Given the description of an element on the screen output the (x, y) to click on. 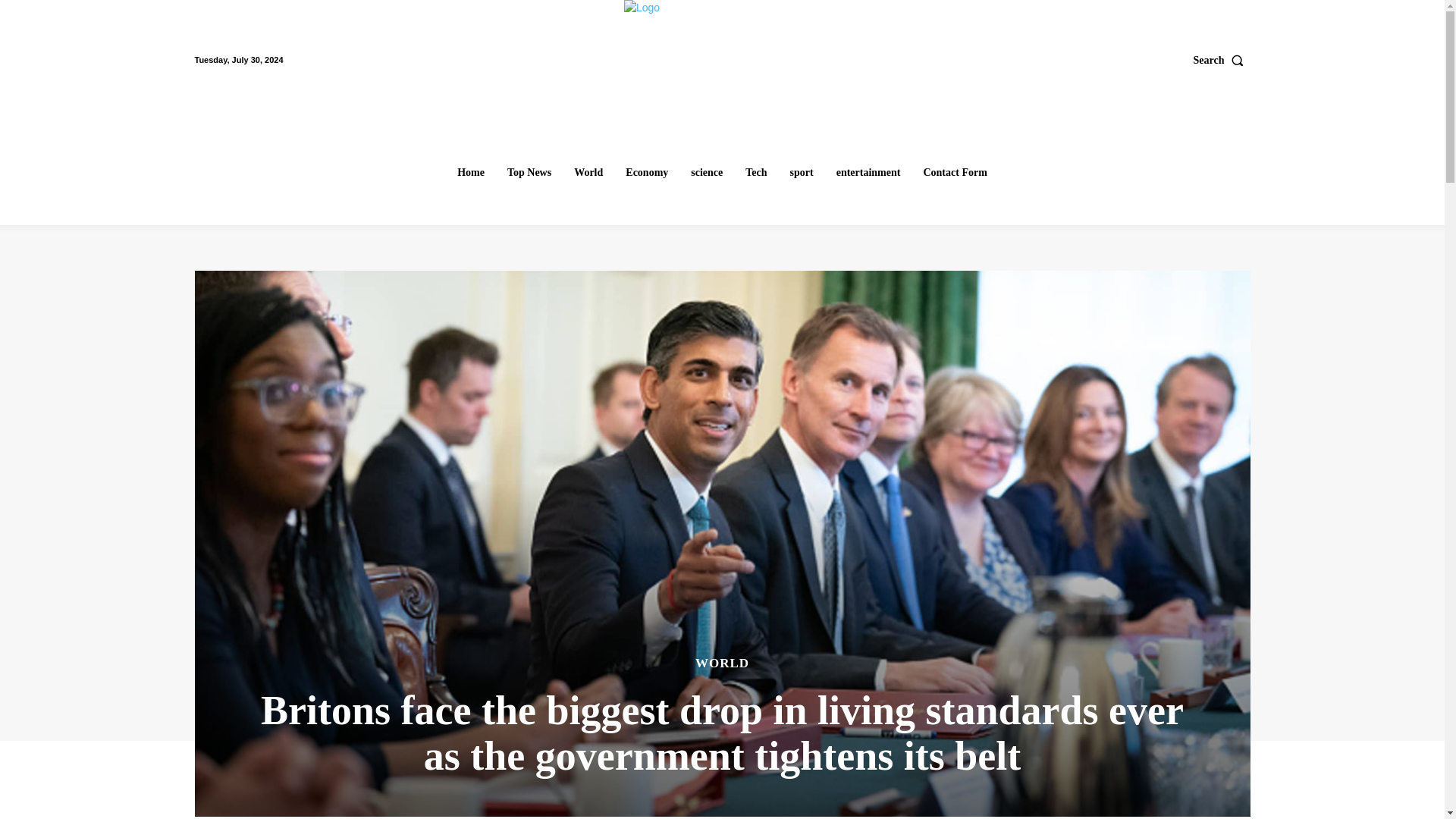
science (706, 173)
Search (1221, 60)
World (588, 173)
sport (802, 173)
Economy (646, 173)
Home (470, 173)
entertainment (868, 173)
Top News (529, 173)
Contact Form (954, 173)
Tech (756, 173)
